Given the description of an element on the screen output the (x, y) to click on. 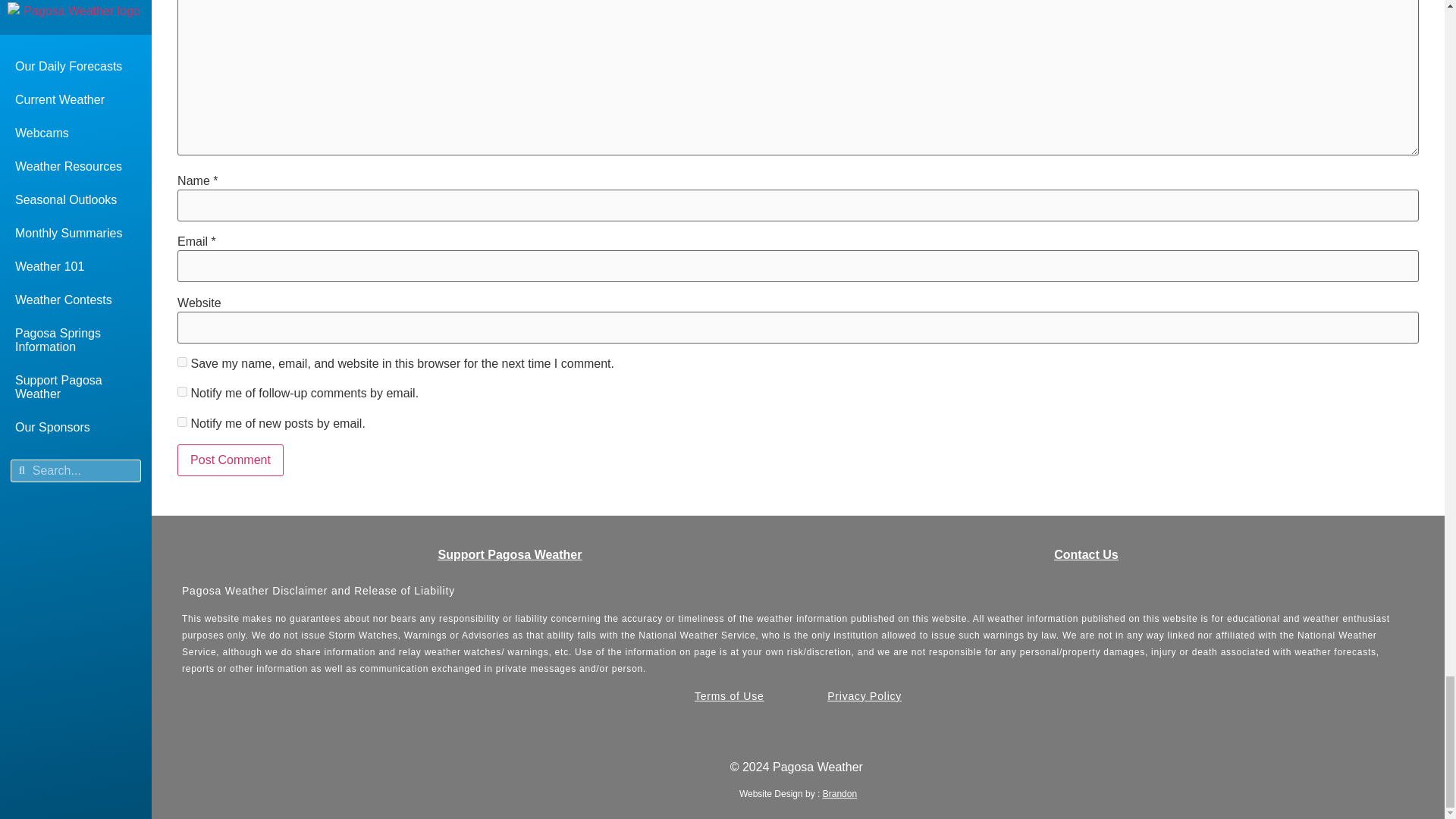
yes (182, 361)
Post Comment (230, 459)
subscribe (182, 421)
subscribe (182, 391)
